Given the description of an element on the screen output the (x, y) to click on. 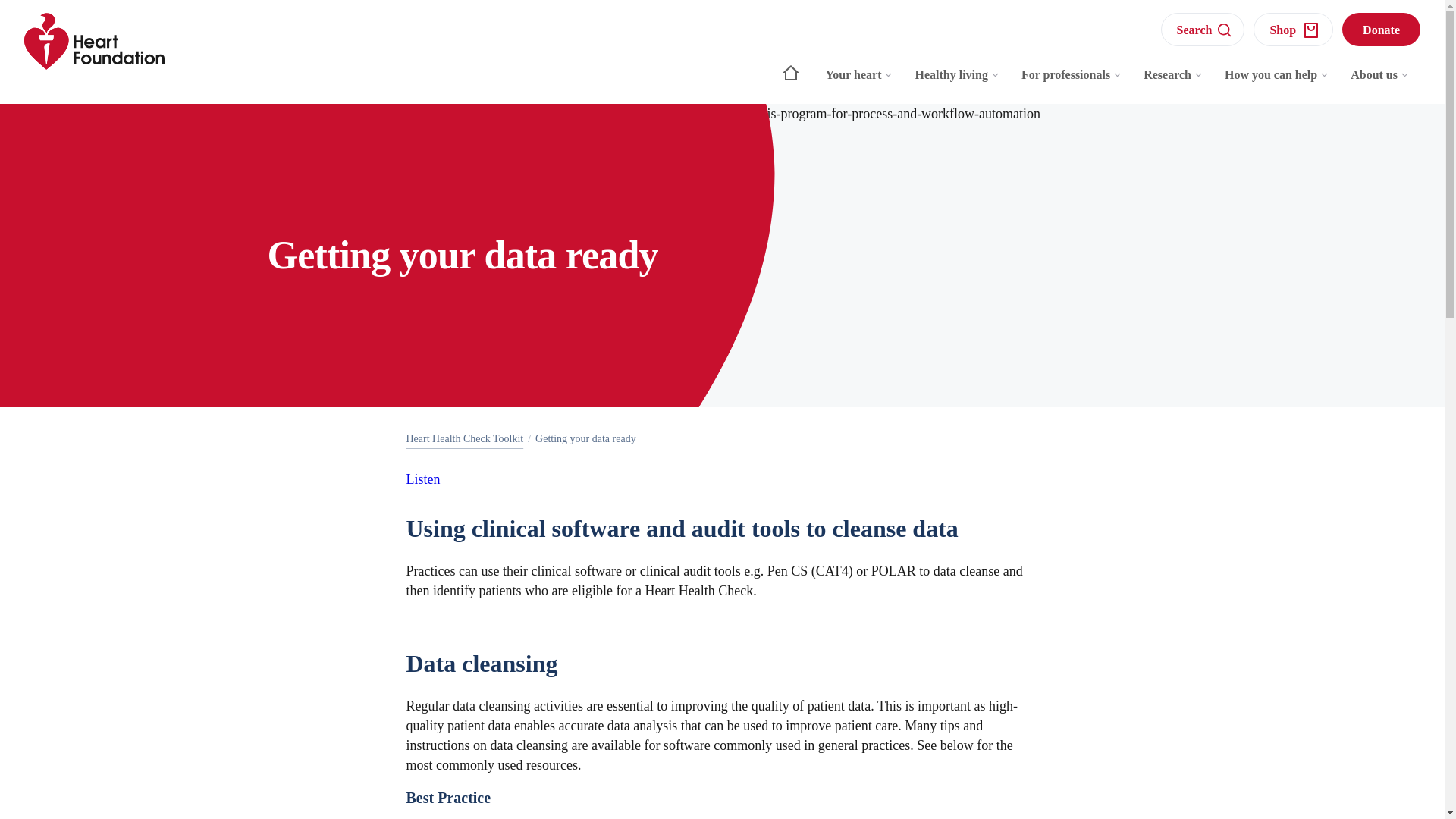
Listen to this page using ReadSpeaker webReader (423, 478)
Listen (423, 478)
Your heart (859, 81)
Donate (1381, 29)
About us (1380, 81)
Healthy living (957, 81)
Heart Health Check Toolkit (465, 438)
Research (1173, 81)
How you can help (1276, 81)
Search (1202, 29)
